Given the description of an element on the screen output the (x, y) to click on. 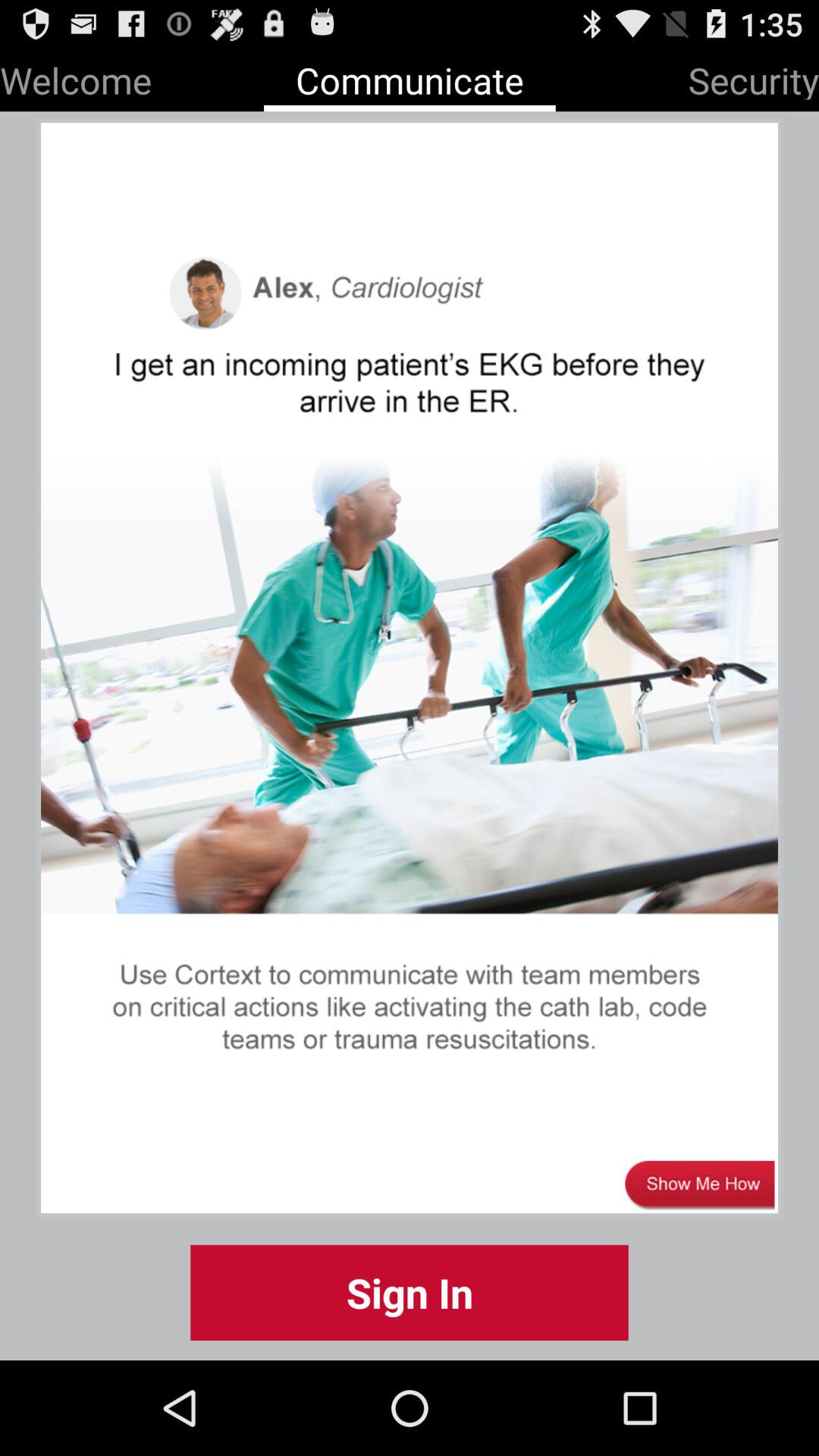
turn off button at the bottom (409, 1292)
